Given the description of an element on the screen output the (x, y) to click on. 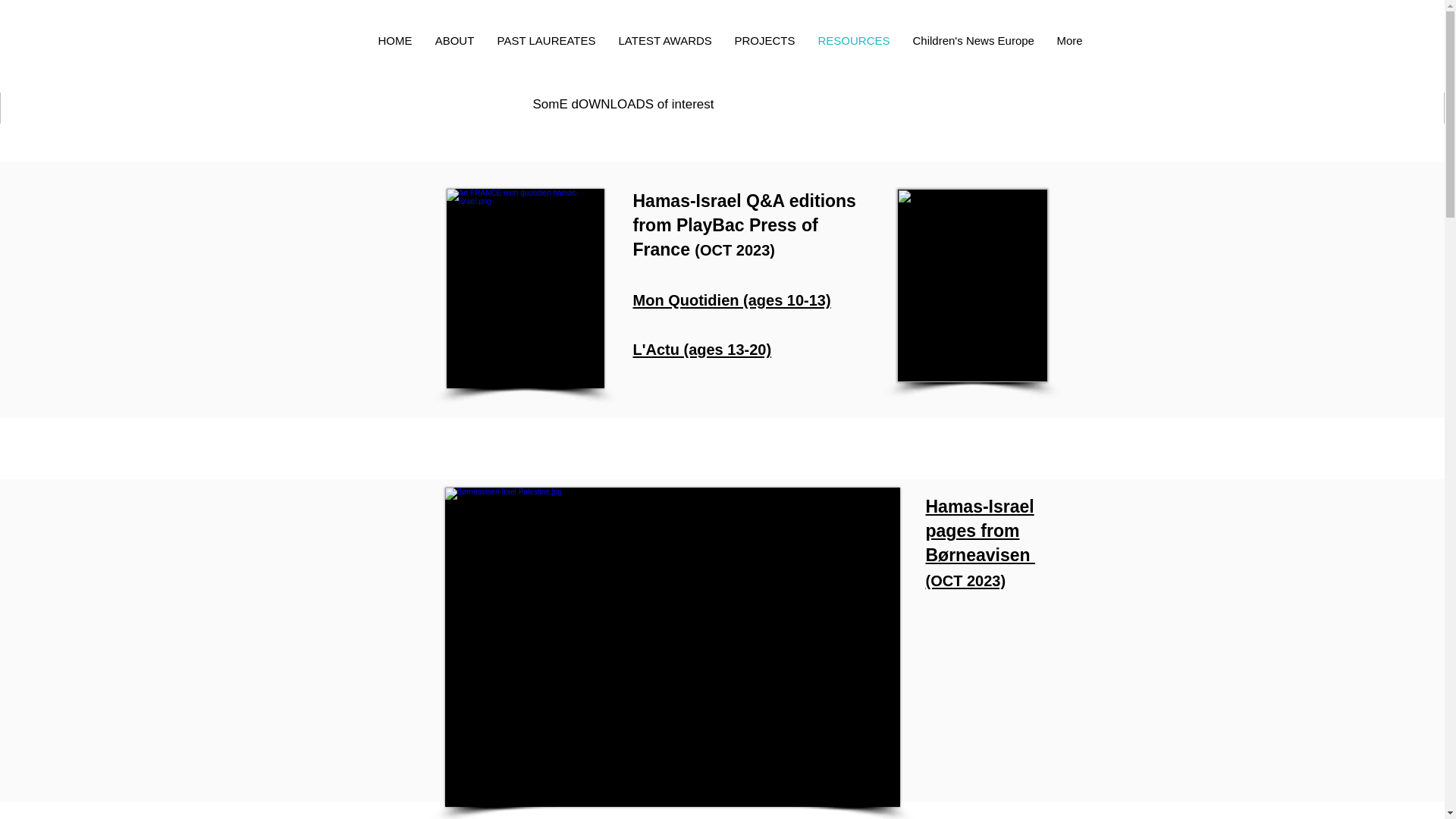
RESOURCES (853, 40)
PROJECTS (764, 40)
ABOUT (453, 40)
LATEST AWARDS (664, 40)
HOME (394, 40)
PAST LAUREATES (545, 40)
Children's News Europe (973, 40)
